Given the description of an element on the screen output the (x, y) to click on. 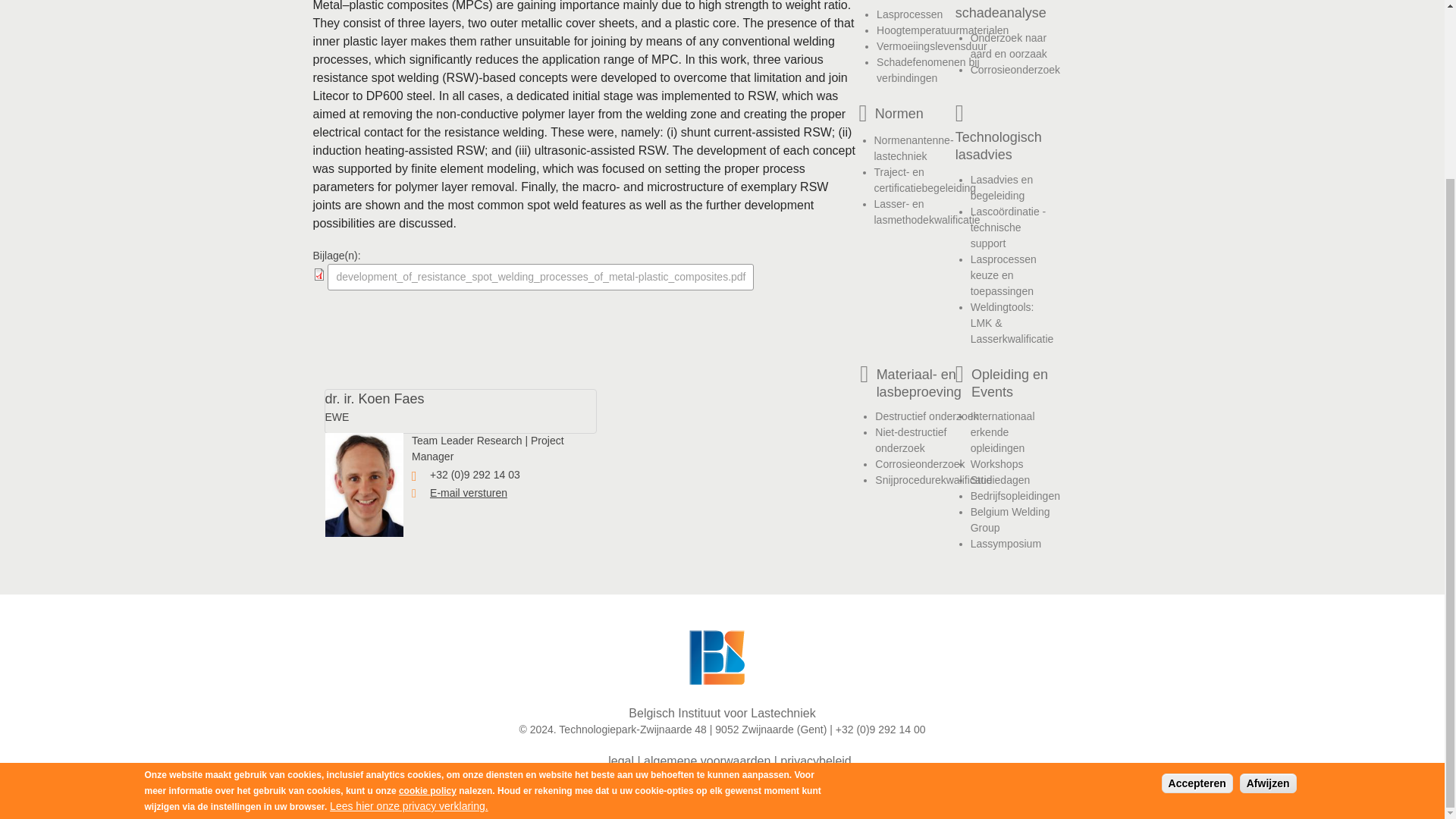
Corrosie- en schadeanalyse (1007, 11)
Lasadvies en begeleiding (1002, 187)
Traject- en certificatiebegeleiding (924, 180)
Technologisch lasadvies (1004, 146)
Lasser- en lasmethodekwalificatie (926, 212)
Normenantenne-lastechniek (913, 148)
Lasprocessen (909, 14)
Corrosieonderzoek (1015, 69)
Vermoeiingslevensduur (931, 46)
E-mail versturen (467, 492)
Normen (927, 115)
Schadefenomenen bij verbindingen (927, 70)
Home (722, 651)
Hoogtemperatuurmaterialen (942, 30)
Onderzoek naar aard en oorzaak (1008, 45)
